Given the description of an element on the screen output the (x, y) to click on. 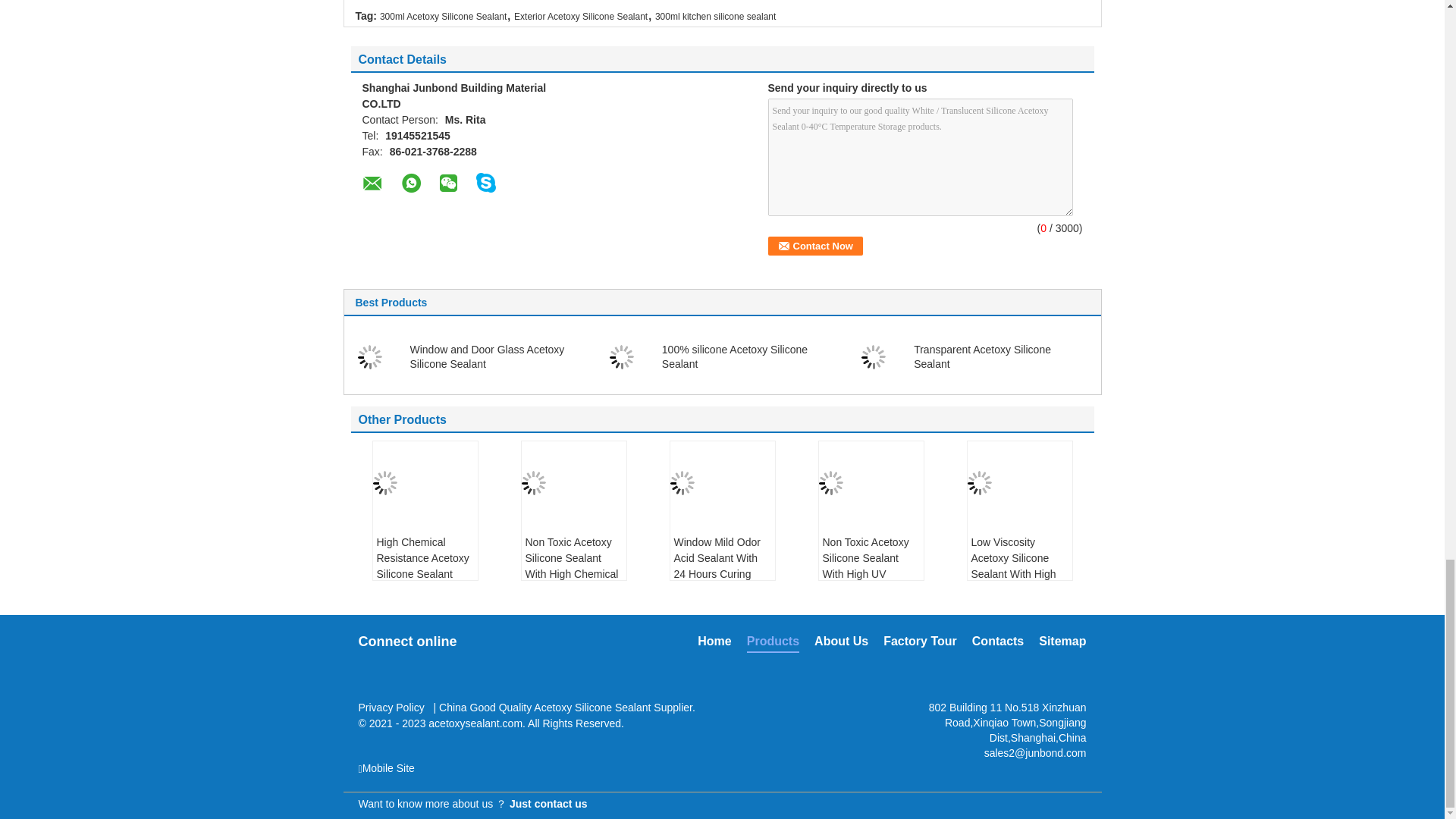
Contact Now (814, 245)
